Given the description of an element on the screen output the (x, y) to click on. 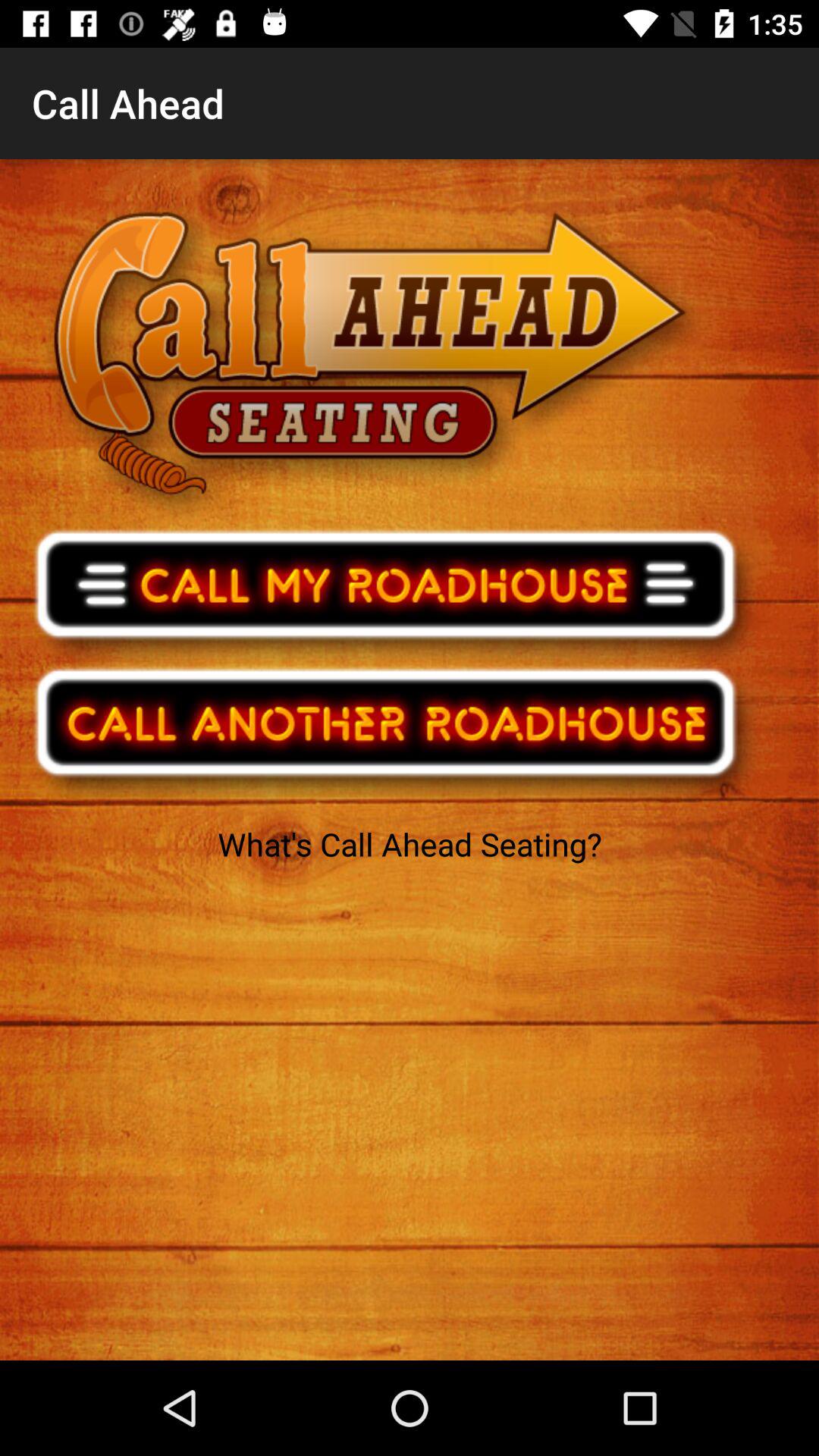
search bar (395, 732)
